Given the description of an element on the screen output the (x, y) to click on. 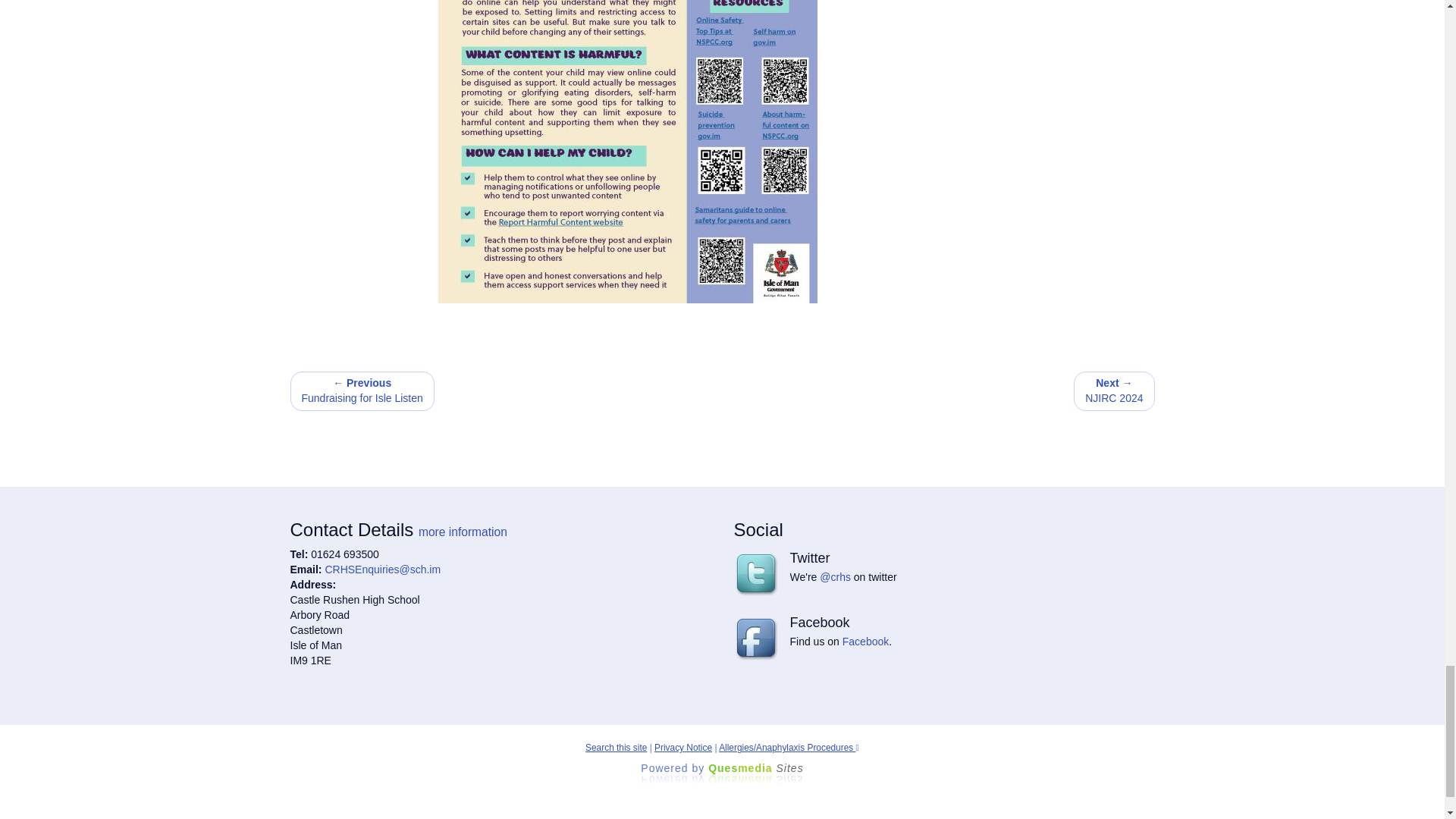
View our Privacy Notice (682, 747)
NJIRC 2024 (1114, 391)
Fundraising for Isle Listen (361, 391)
Can't find what you're looking for, try a search (615, 747)
